Given the description of an element on the screen output the (x, y) to click on. 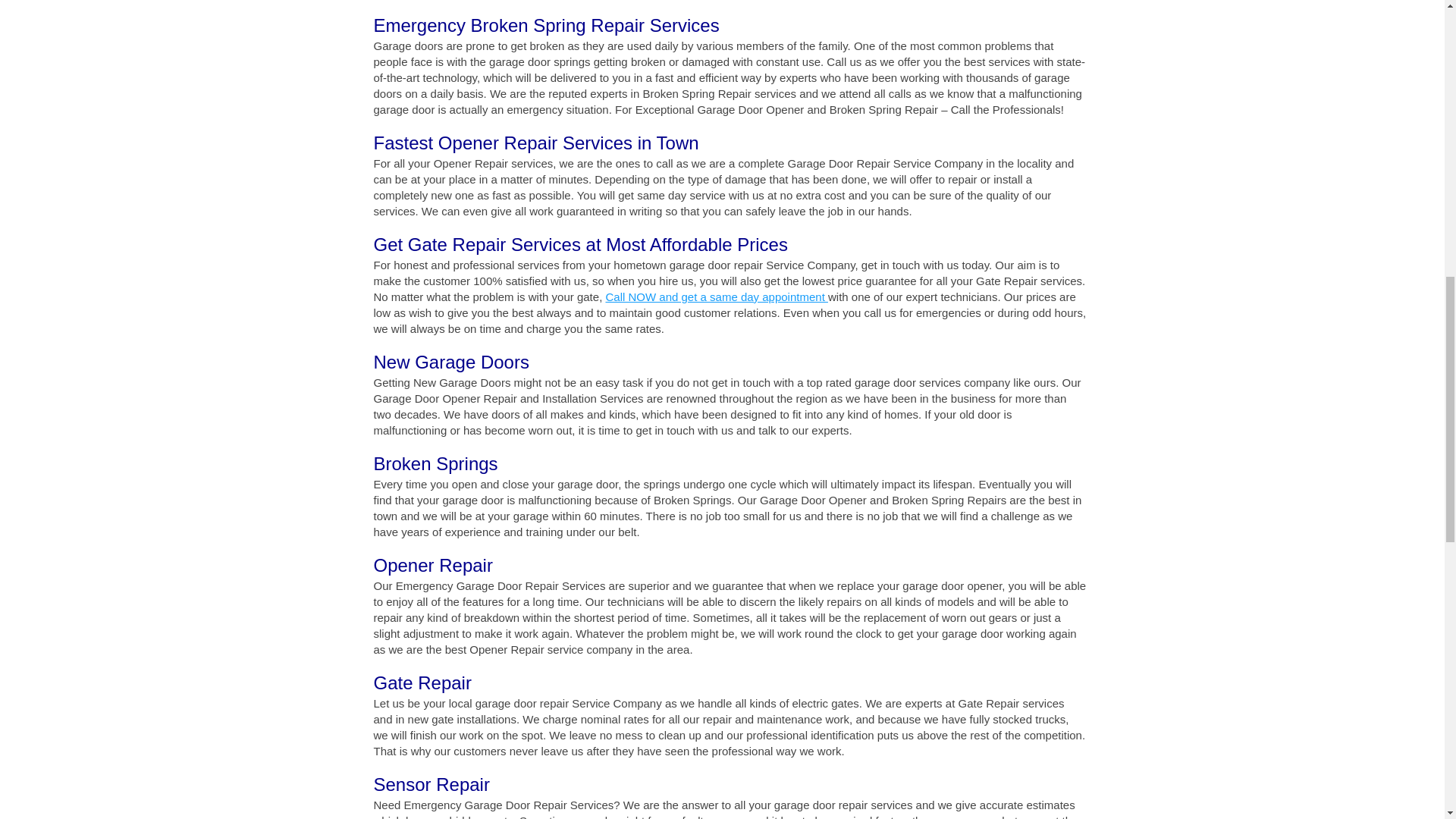
Call NOW and get a same day appointment (716, 296)
